Given the description of an element on the screen output the (x, y) to click on. 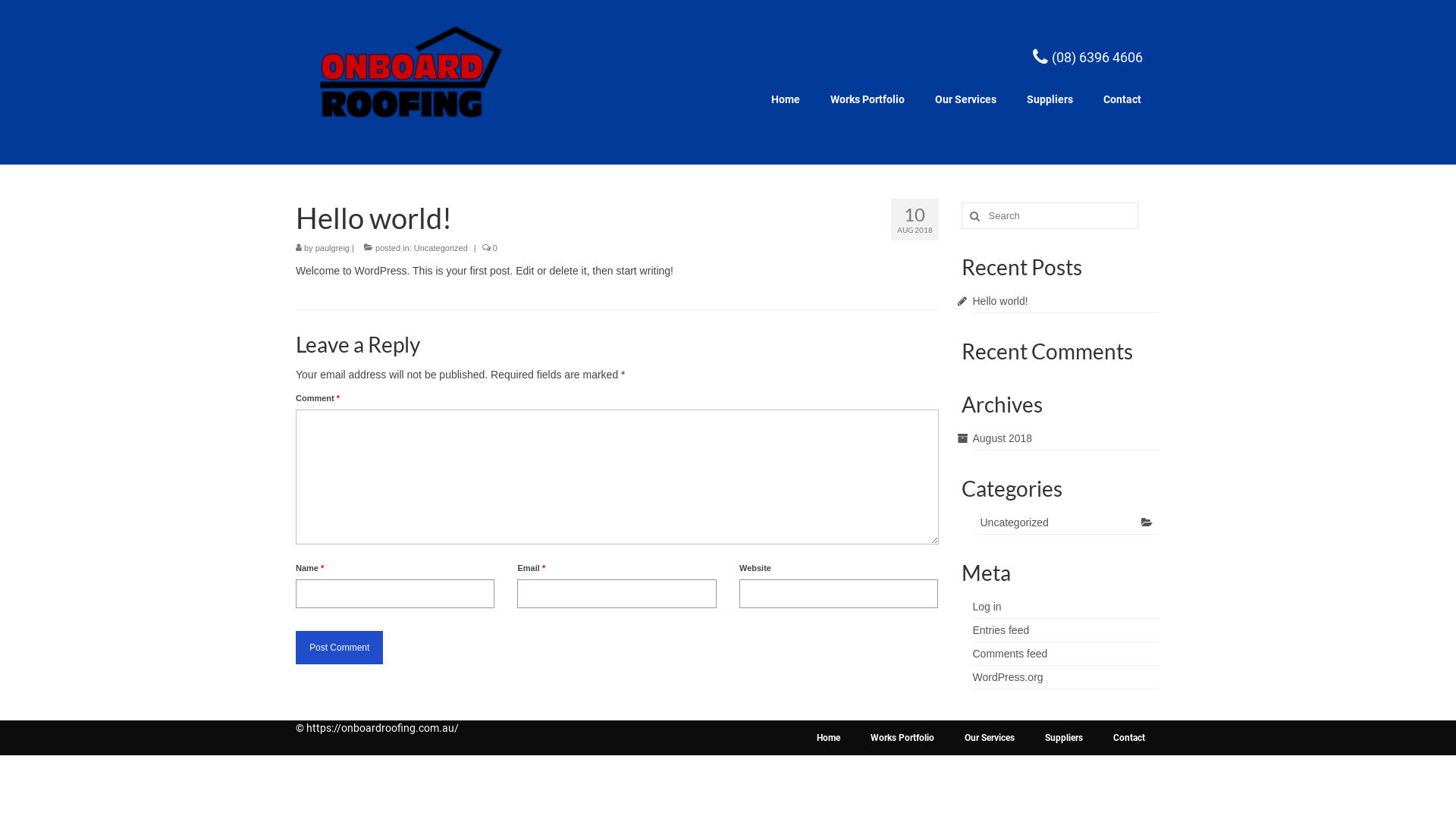
Our Services Element type: text (965, 98)
Contact Element type: text (1129, 737)
Our Services Element type: text (989, 737)
Hello world! Element type: text (999, 300)
Works Portfolio Element type: text (902, 737)
https://onboardroofing.com.au/ Element type: text (382, 727)
Comments feed Element type: text (1009, 653)
Log in Element type: text (986, 606)
Uncategorized Element type: text (1066, 522)
Uncategorized Element type: text (440, 247)
Contact Element type: text (1122, 98)
Entries feed Element type: text (1000, 630)
Works Portfolio Element type: text (867, 98)
Home Element type: text (828, 737)
Post Comment Element type: text (338, 647)
Suppliers Element type: text (1063, 737)
Suppliers Element type: text (1049, 98)
Home Element type: text (785, 98)
paulgreig Element type: text (332, 247)
August 2018 Element type: text (1002, 438)
WordPress.org Element type: text (1007, 677)
